Given the description of an element on the screen output the (x, y) to click on. 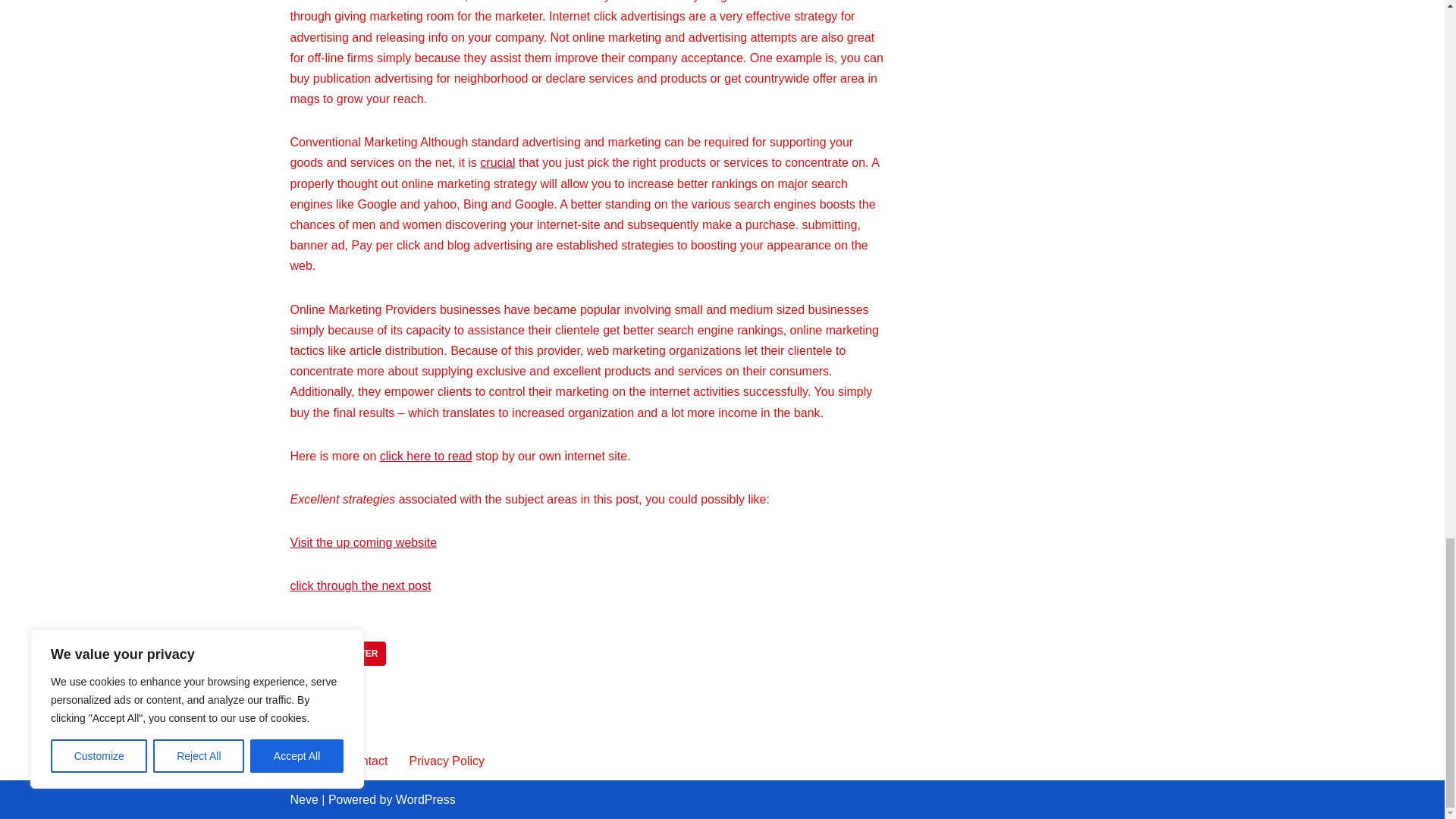
greater (355, 653)
Visit the up coming website (362, 542)
GREATER (355, 653)
crucial (497, 162)
click through the next post (359, 585)
click here to read (425, 455)
